Given the description of an element on the screen output the (x, y) to click on. 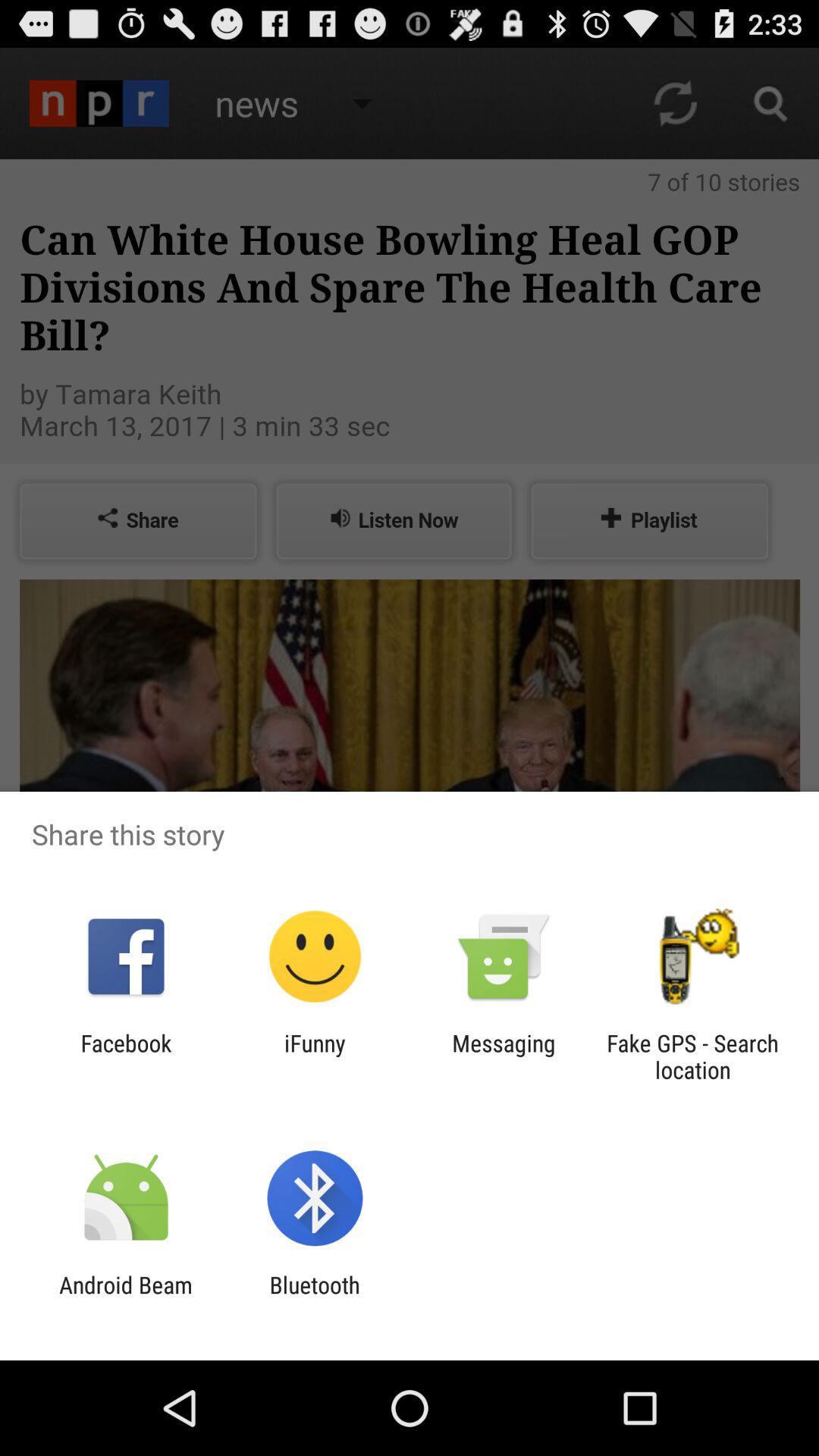
turn on the icon to the left of the ifunny item (125, 1056)
